Given the description of an element on the screen output the (x, y) to click on. 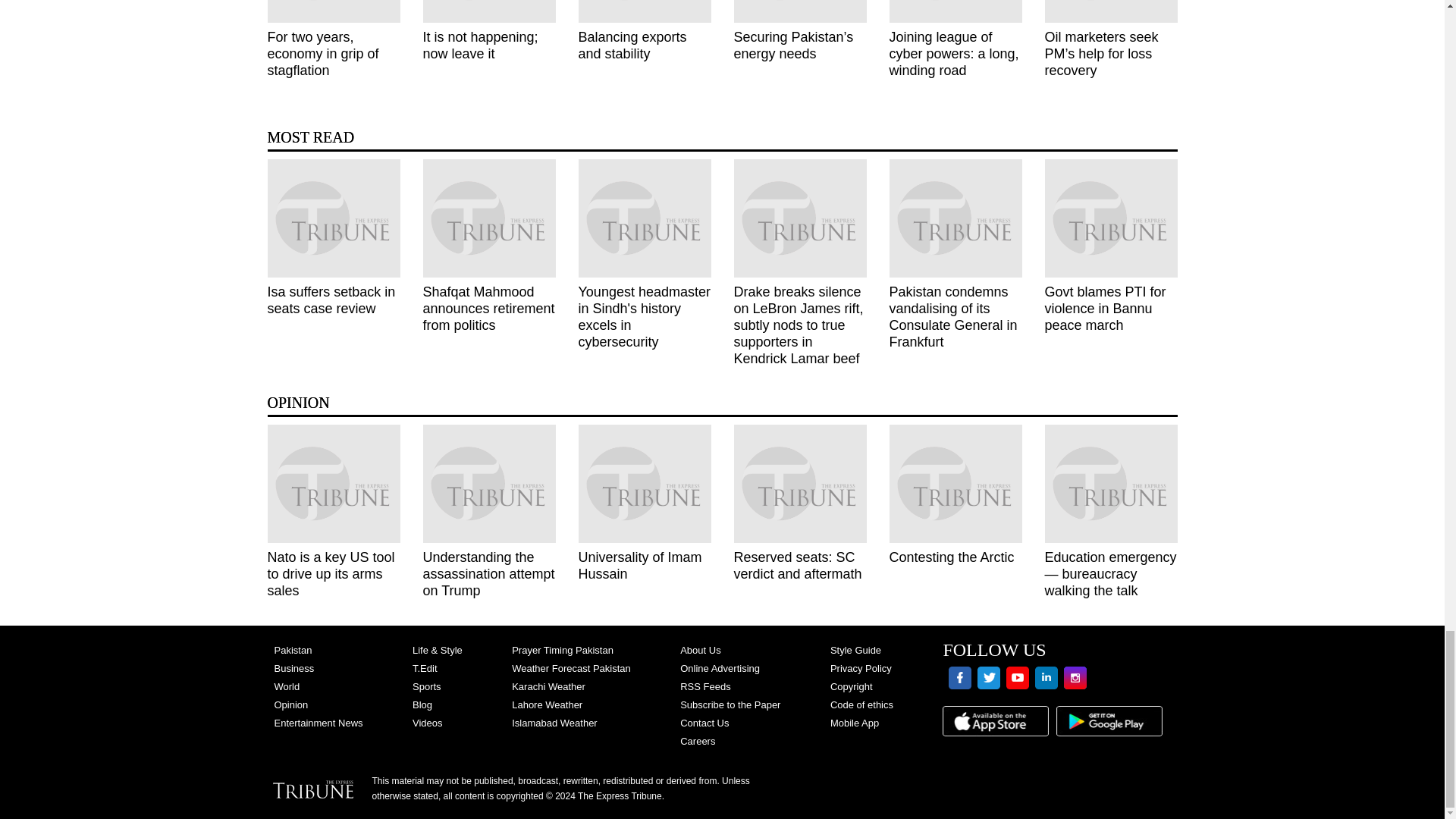
govt blames pti for violence in bannu peace march (1111, 217)
education emergency bureaucracy walking the talk (1111, 483)
universality of imam hussain (644, 483)
contesting the arctic (955, 483)
understanding the assassination attempt on trump (489, 483)
it is not happening now leave it (489, 11)
nato is a key us tool to drive up its arms sales (332, 483)
oil marketers seek pm s help for loss recovery (1111, 11)
balancing exports and stability (644, 11)
reserved seats sc verdict and aftermath (799, 483)
securing pakistan s energy needs (799, 11)
isa suffers setback in seats case review (332, 217)
for two years economy in grip of stagflation (332, 11)
joining league of cyber powers a long winding road (955, 11)
shafqat mahmood announces retirement from politics (489, 217)
